Given the description of an element on the screen output the (x, y) to click on. 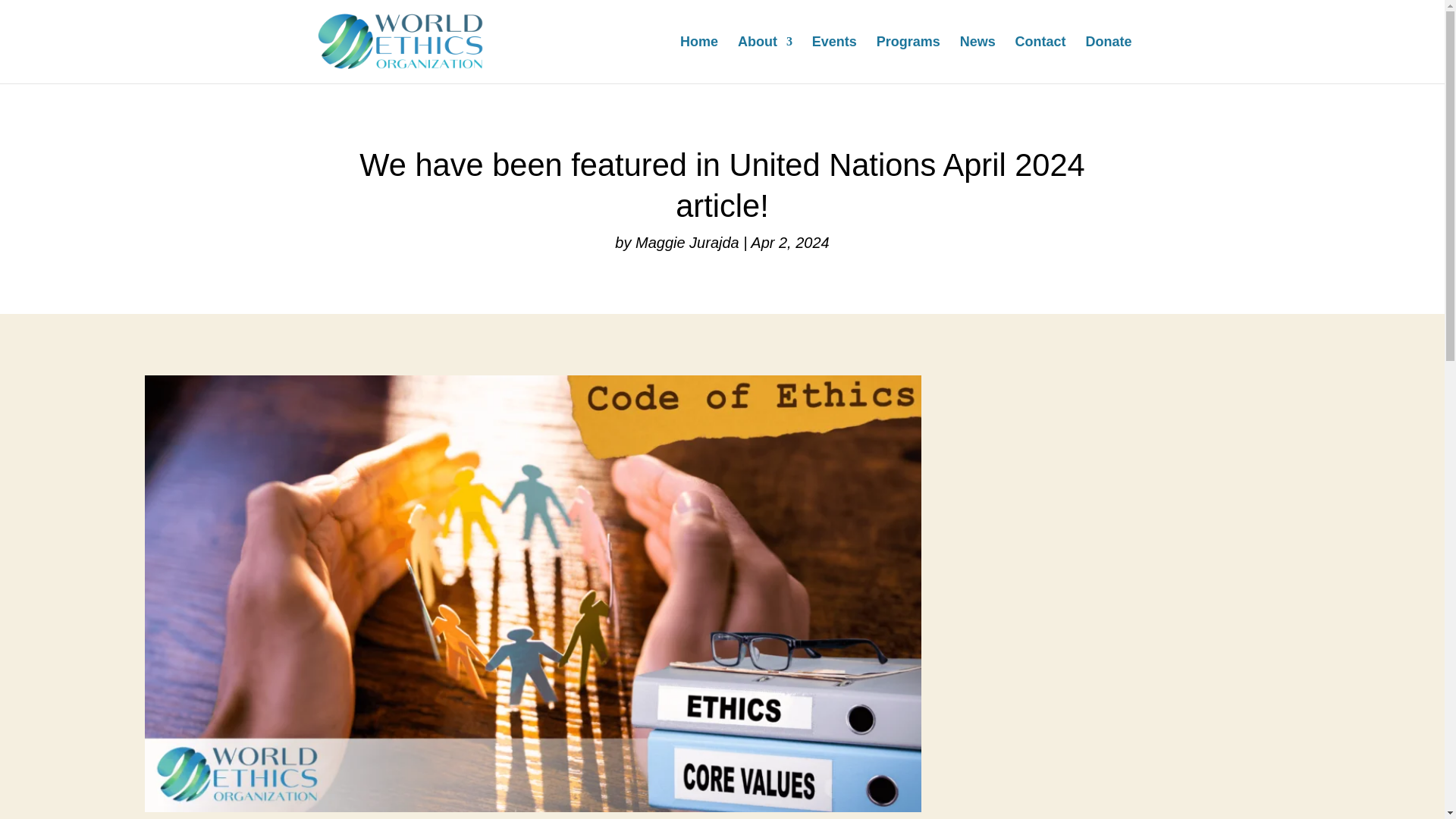
About (765, 59)
Maggie Jurajda (686, 242)
Home (698, 59)
Posts by Maggie Jurajda (686, 242)
News (977, 59)
Events (834, 59)
Programs (908, 59)
Contact (1039, 59)
Donate (1107, 59)
